Given the description of an element on the screen output the (x, y) to click on. 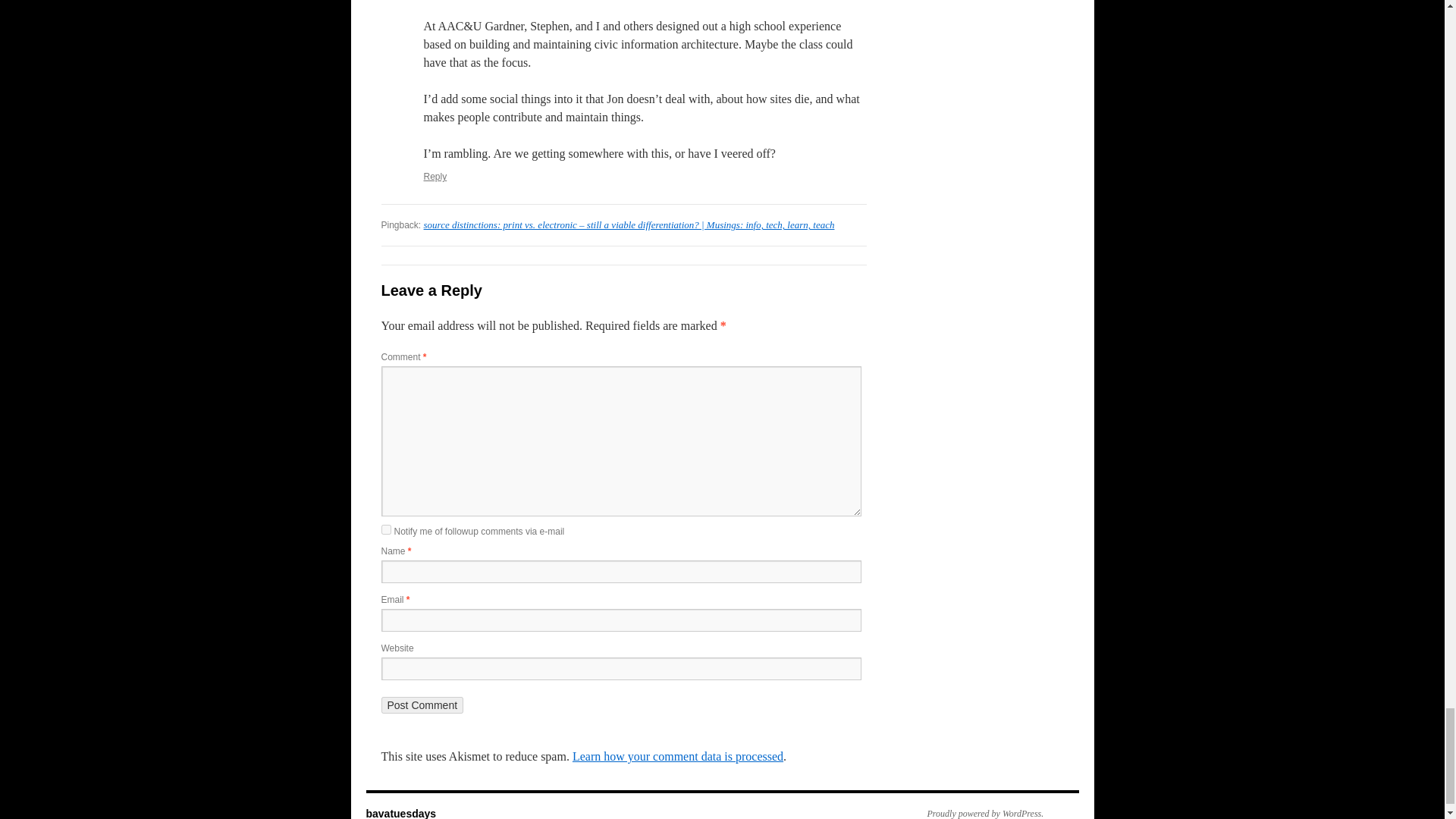
Post Comment (421, 704)
subscribe (385, 529)
